Given the description of an element on the screen output the (x, y) to click on. 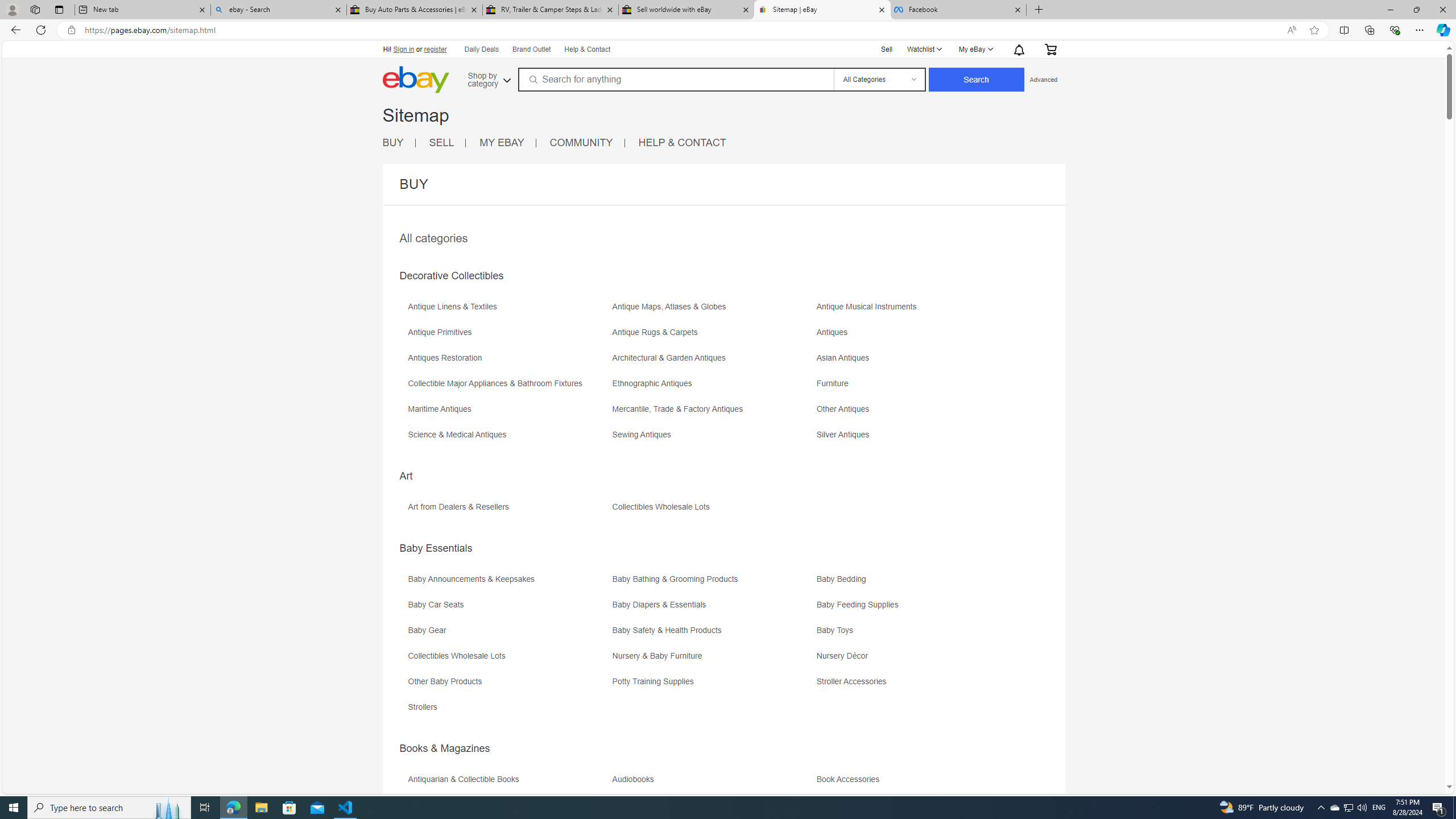
Advanced Search (1042, 78)
Sell (887, 49)
Potty Training Supplies (654, 681)
Antique Rugs & Carpets (657, 332)
My eBayExpand My eBay (975, 49)
BUY (392, 142)
Brand Outlet (531, 49)
Baby Car Seats (438, 604)
Baby Essentials (435, 547)
Other Antiques (917, 412)
Audiobooks (712, 783)
Decorative Collectibles (450, 275)
